Given the description of an element on the screen output the (x, y) to click on. 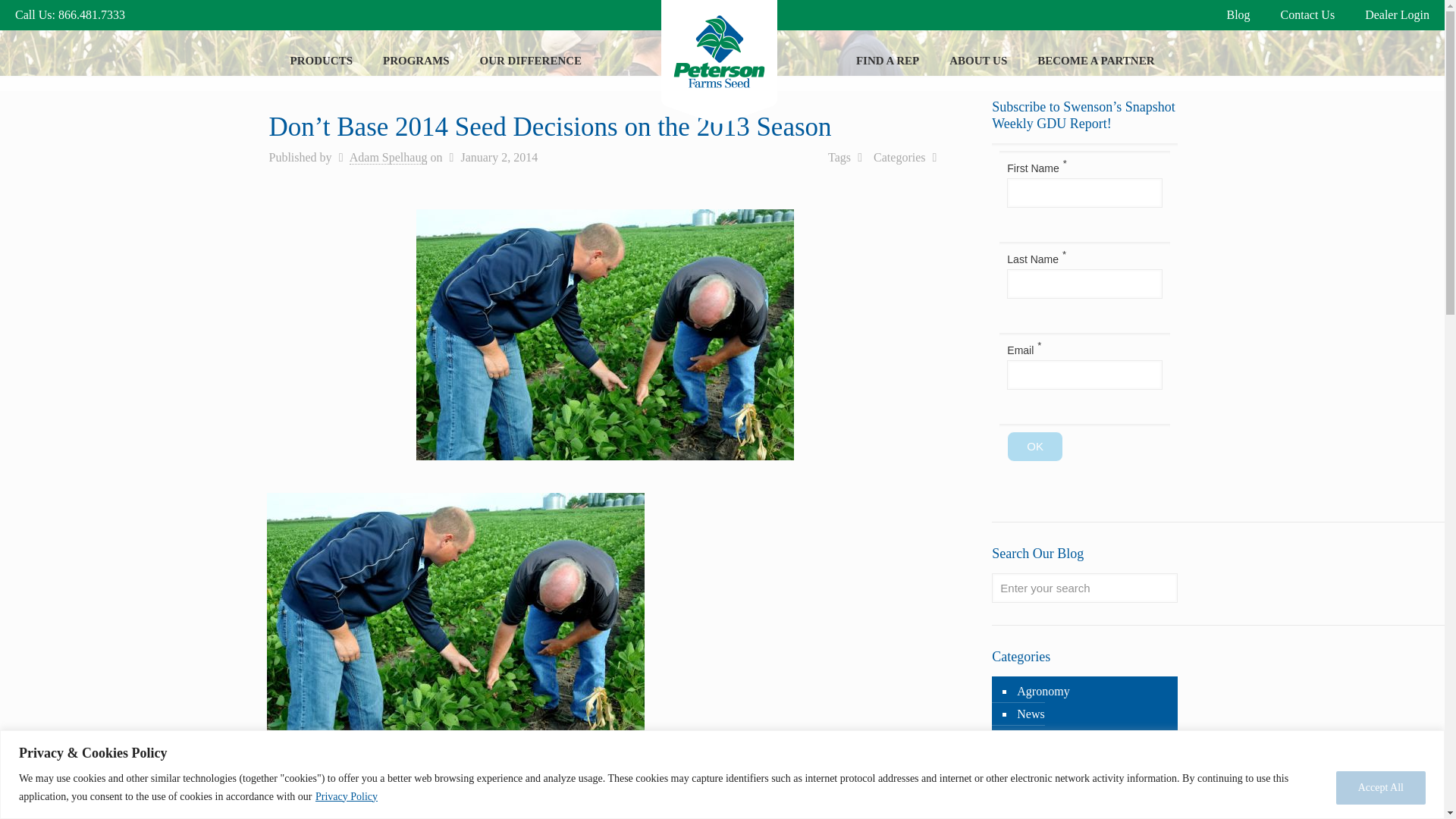
PROGRAMS (416, 60)
Privacy Policy (346, 796)
OUR DIFFERENCE (530, 60)
Blog (1237, 14)
ABOUT US (978, 60)
Accept All (1380, 786)
FIND A REP (887, 60)
Call Us: 866.481.7333 (69, 14)
Contact Us (1308, 14)
PRODUCTS (321, 60)
Dealer Login (1397, 14)
